Given the description of an element on the screen output the (x, y) to click on. 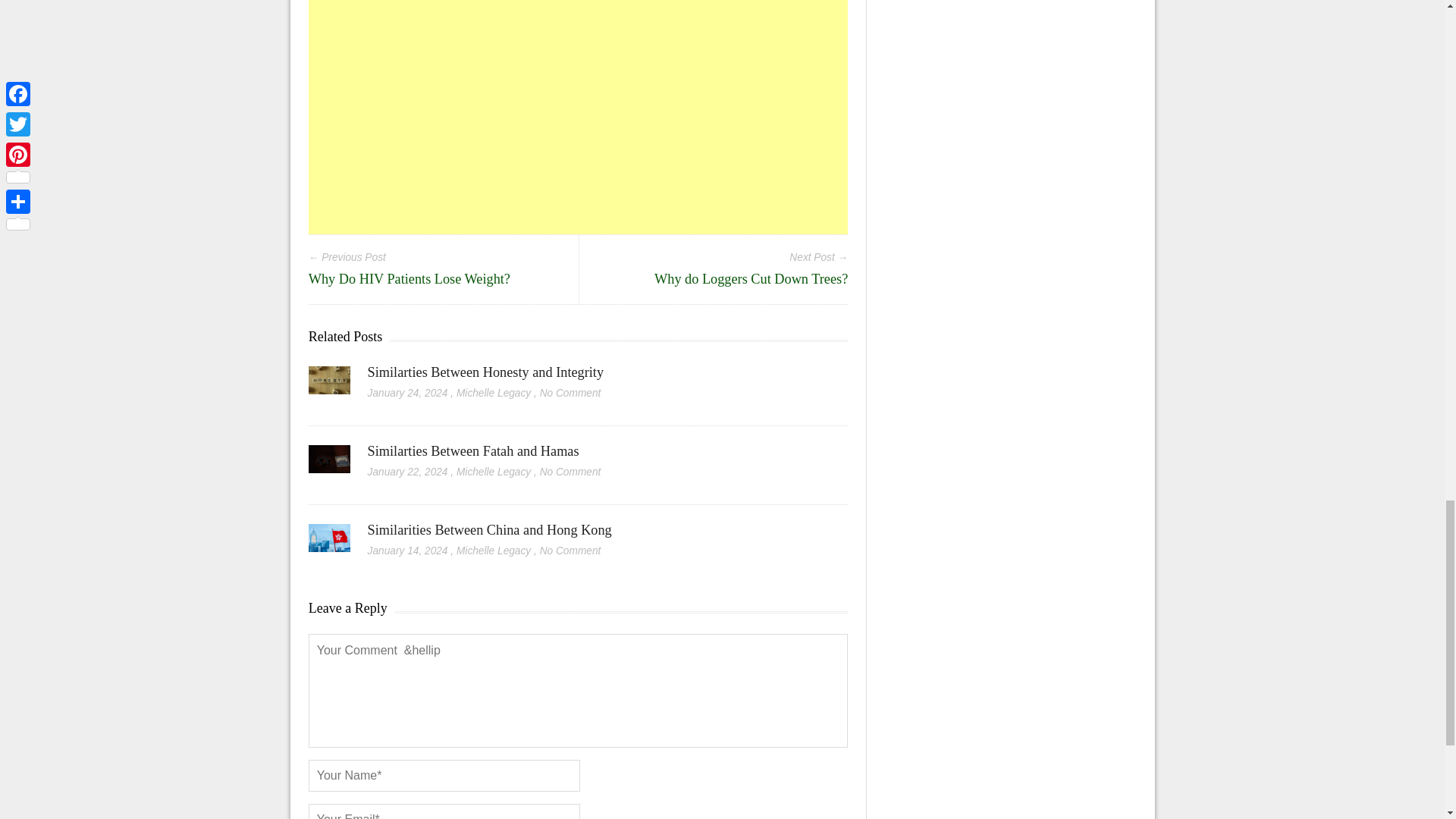
Similarties Between Fatah and Hamas (473, 450)
Michelle Legacy (494, 550)
Similarities Between China and Hong Kong (489, 529)
Advertisement (578, 117)
Similarities Between China and Hong Kong (329, 543)
No Comment (570, 471)
Similarties Between Honesty and Integrity (486, 372)
Posts by Michelle Legacy (494, 392)
Posts by Michelle Legacy (494, 471)
Similarties Between Honesty and Integrity (486, 372)
Michelle Legacy (494, 392)
Similarties Between Fatah and Hamas (329, 464)
No Comment (570, 392)
Similarties Between Fatah and Hamas (473, 450)
Similarities Between China and Hong Kong (489, 529)
